Given the description of an element on the screen output the (x, y) to click on. 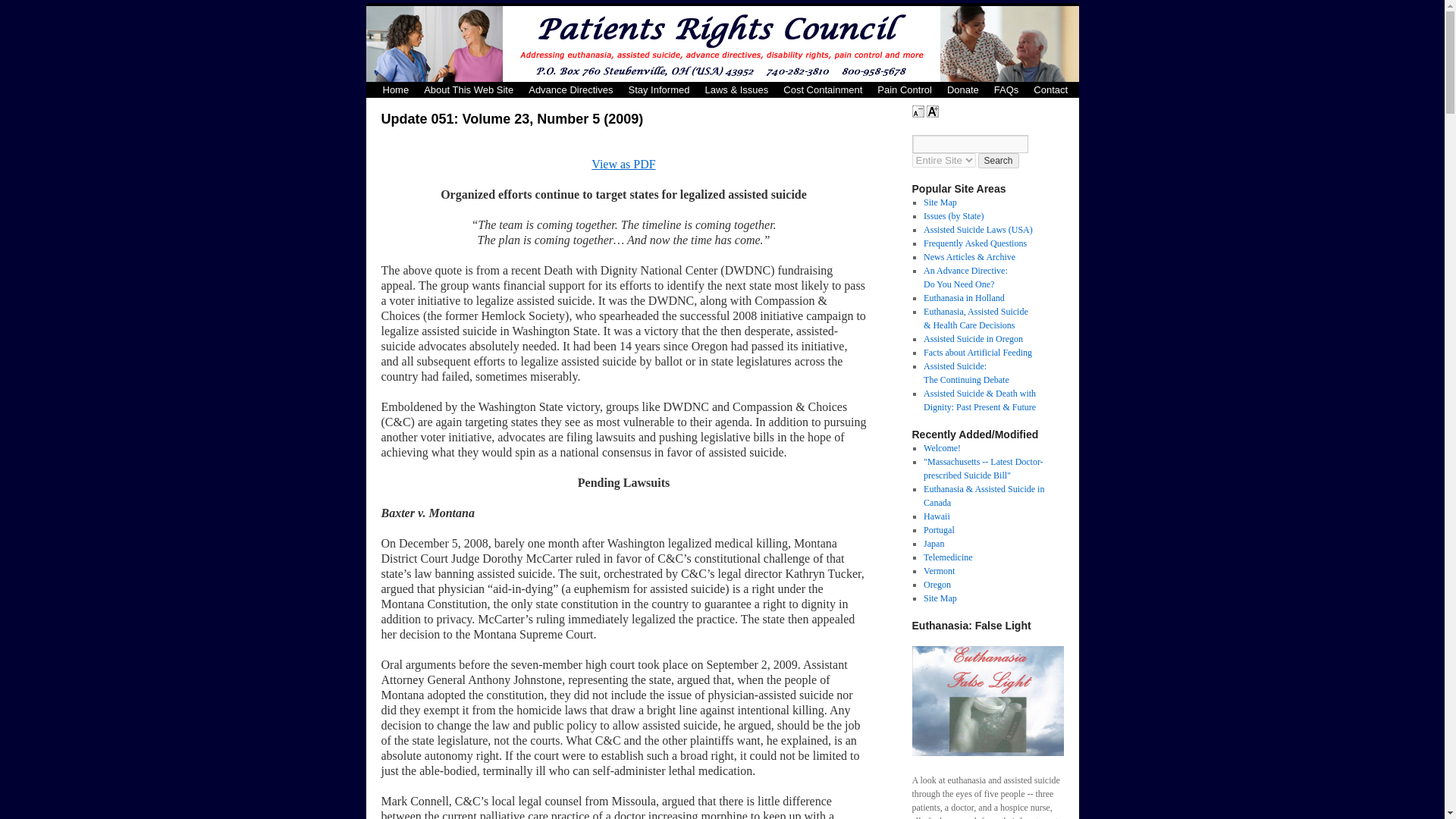
Advance Directives (570, 89)
Donate (963, 89)
Contact (1050, 89)
View as PDF (623, 164)
FAQs (1006, 89)
Home (395, 89)
Set Text Size X-Large (932, 111)
Cost Containment (822, 89)
Search (998, 160)
Stay Informed (658, 89)
Search (998, 160)
Set Text Size Small (917, 111)
Pain Control (904, 89)
About This Web Site (468, 89)
